Given the description of an element on the screen output the (x, y) to click on. 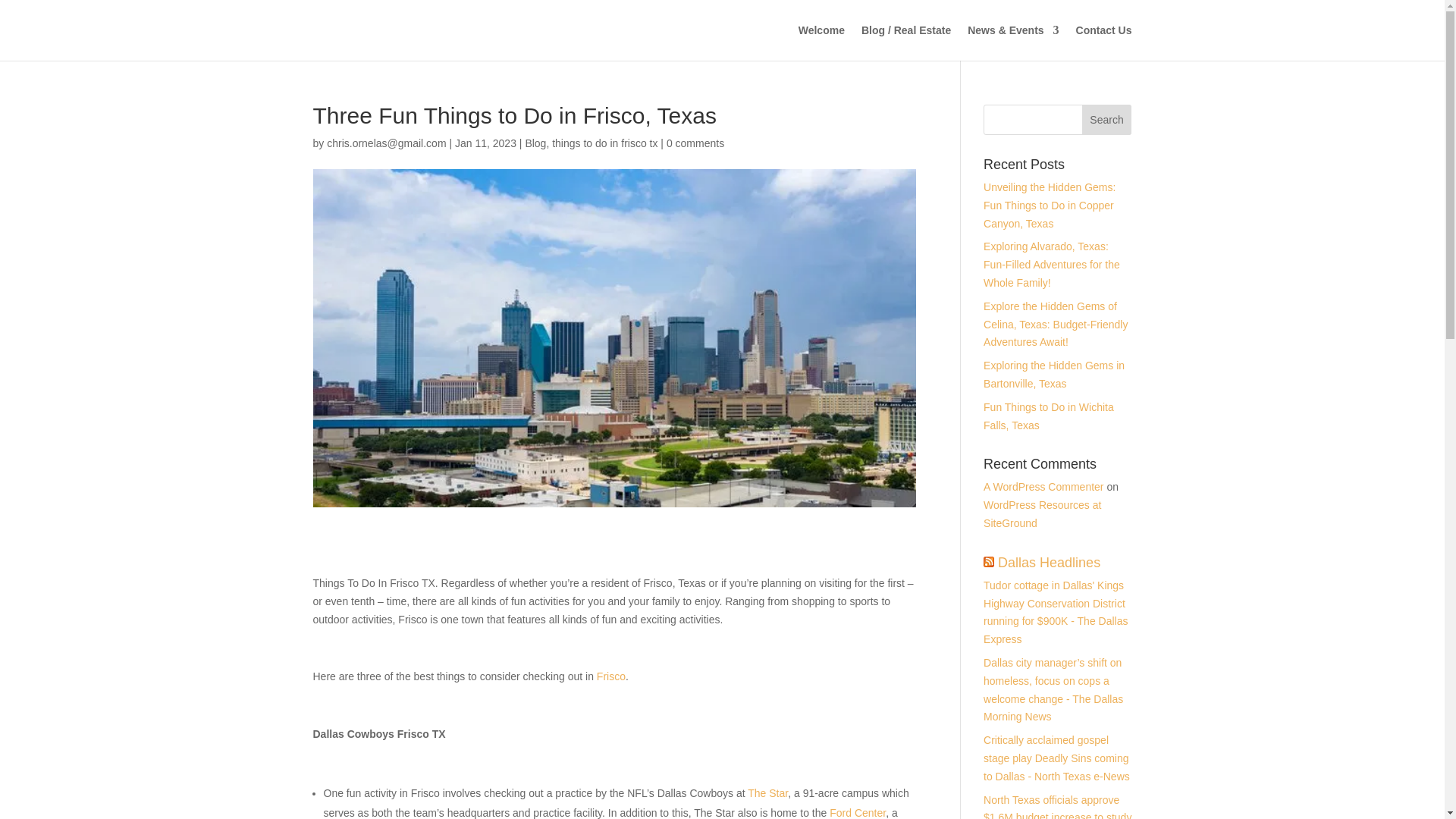
Welcome (820, 42)
Fun Things to Do in Wichita Falls, Texas (1048, 416)
Search (1106, 119)
Search (1106, 119)
Contact Us (1103, 42)
Exploring the Hidden Gems in Bartonville, Texas (1054, 374)
WordPress Resources at SiteGround (1042, 513)
Ford Center (857, 812)
